Given the description of an element on the screen output the (x, y) to click on. 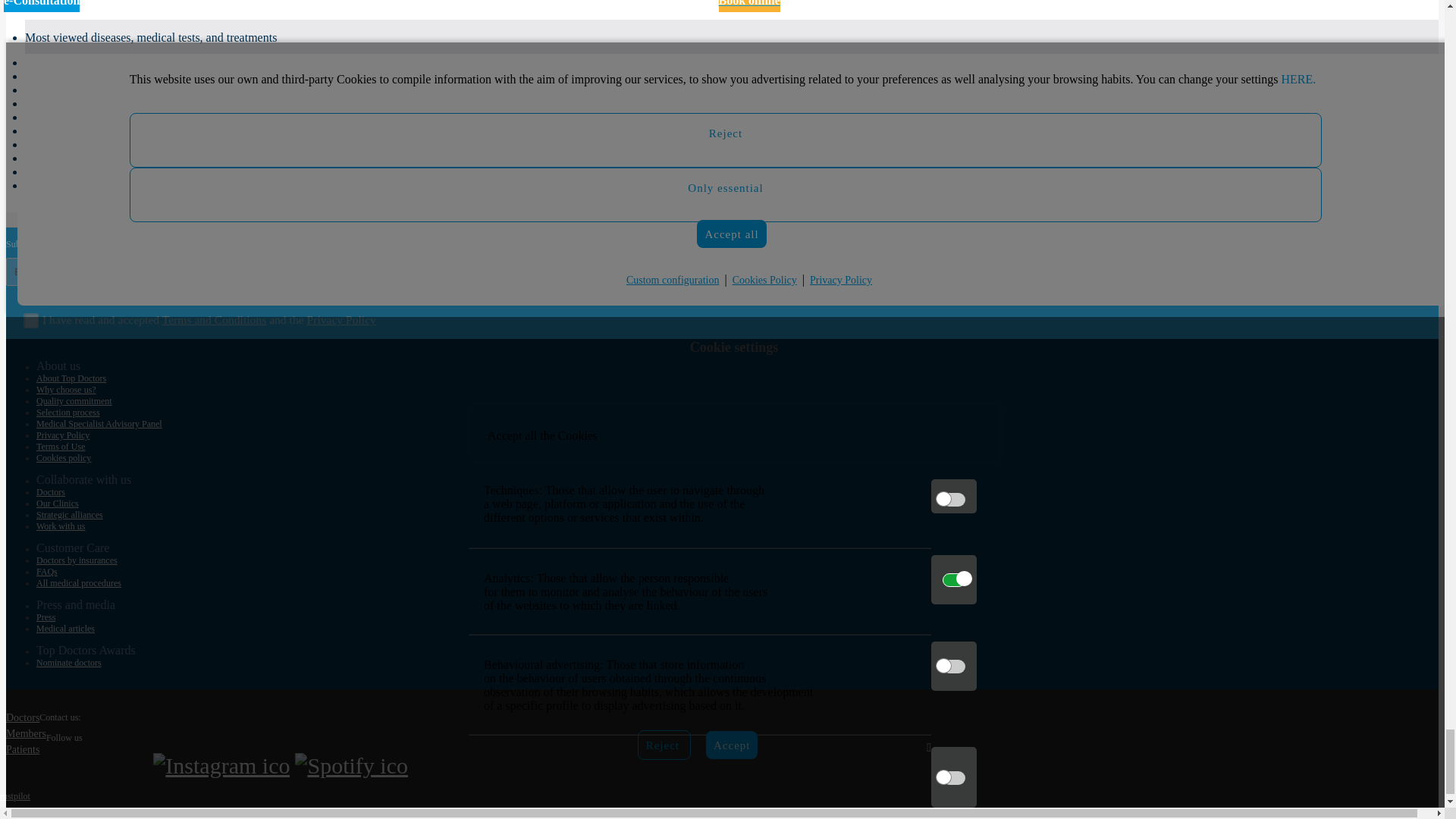
Top Doctors en Twitter (79, 765)
Top Doctors su Instagram (221, 765)
Top Doctors en Youtube (136, 765)
Top Doctors su Spotify (351, 765)
Top Doctors en Facebook (52, 765)
Top Doctors en Linkedin (108, 765)
